Given the description of an element on the screen output the (x, y) to click on. 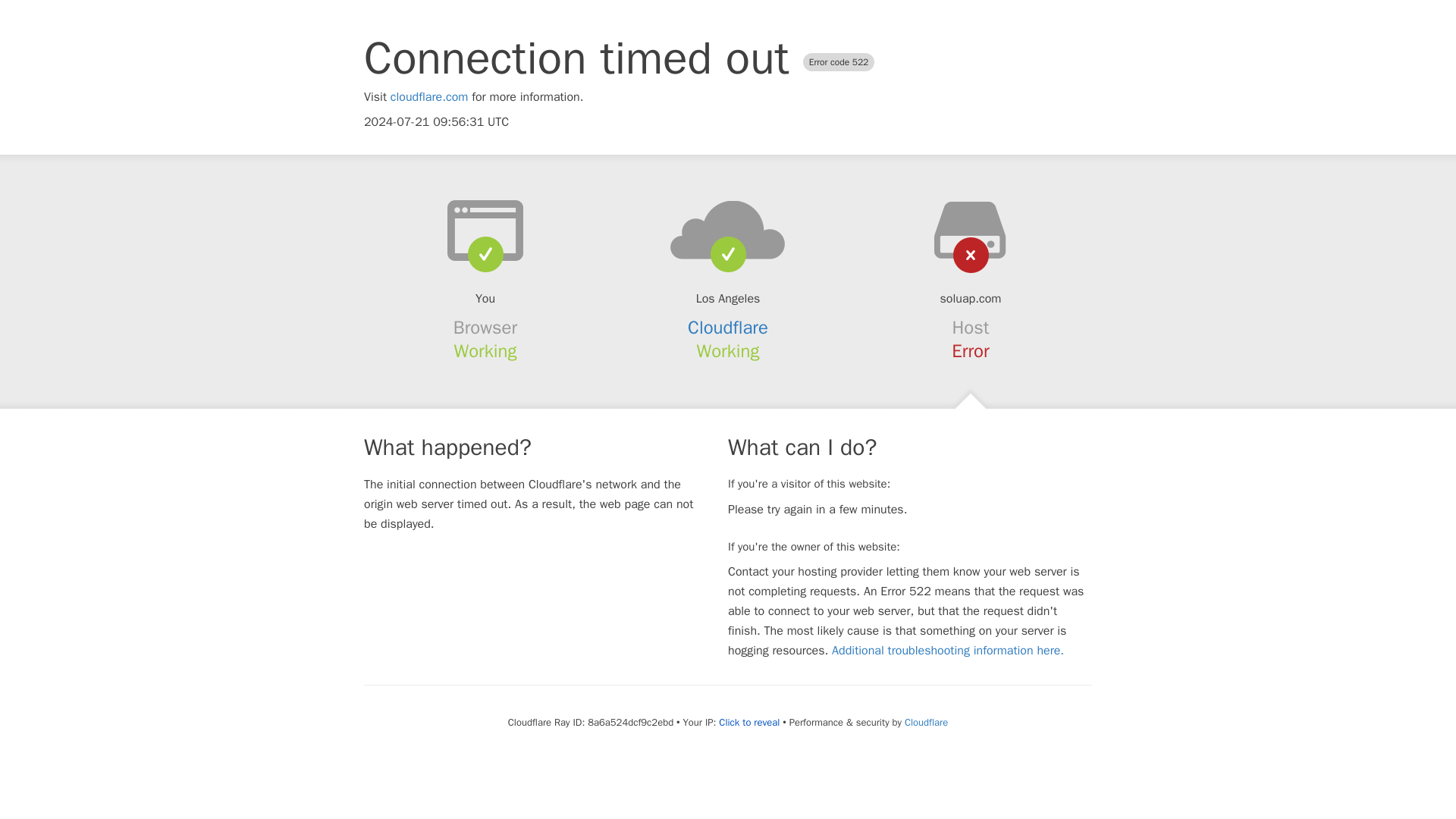
cloudflare.com (429, 96)
Cloudflare (925, 721)
Additional troubleshooting information here. (947, 650)
Cloudflare (727, 327)
Click to reveal (748, 722)
